Given the description of an element on the screen output the (x, y) to click on. 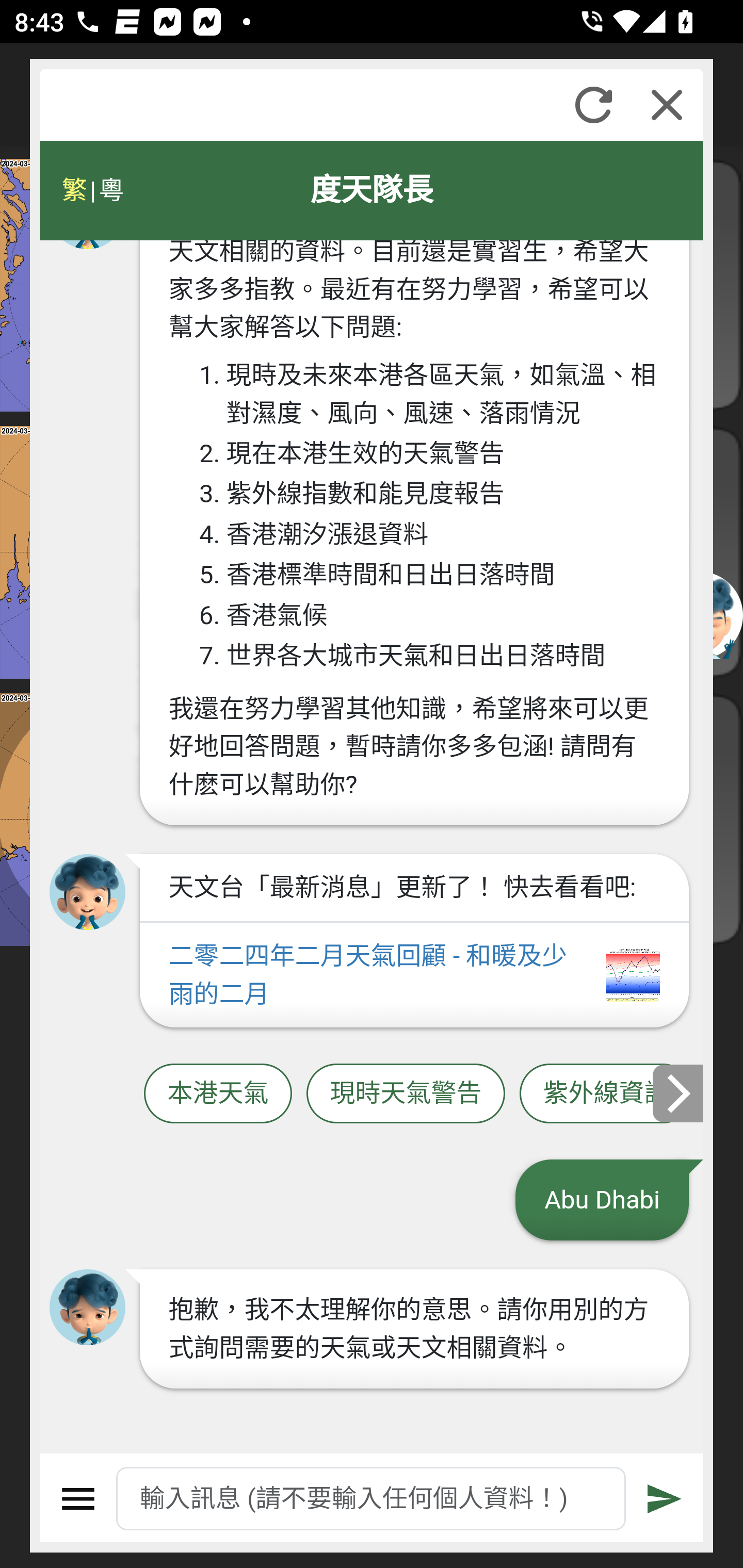
重新整理 (593, 104)
關閉 (666, 104)
繁 (73, 190)
粵 (110, 190)
二零二四年二月天氣回顧 - 和暖及少雨的二月 (413, 974)
本港天氣 (217, 1093)
現時天氣警告 (405, 1093)
紫外線資訊 (605, 1093)
下一張 (678, 1092)
選單 (78, 1498)
遞交 (665, 1498)
